Given the description of an element on the screen output the (x, y) to click on. 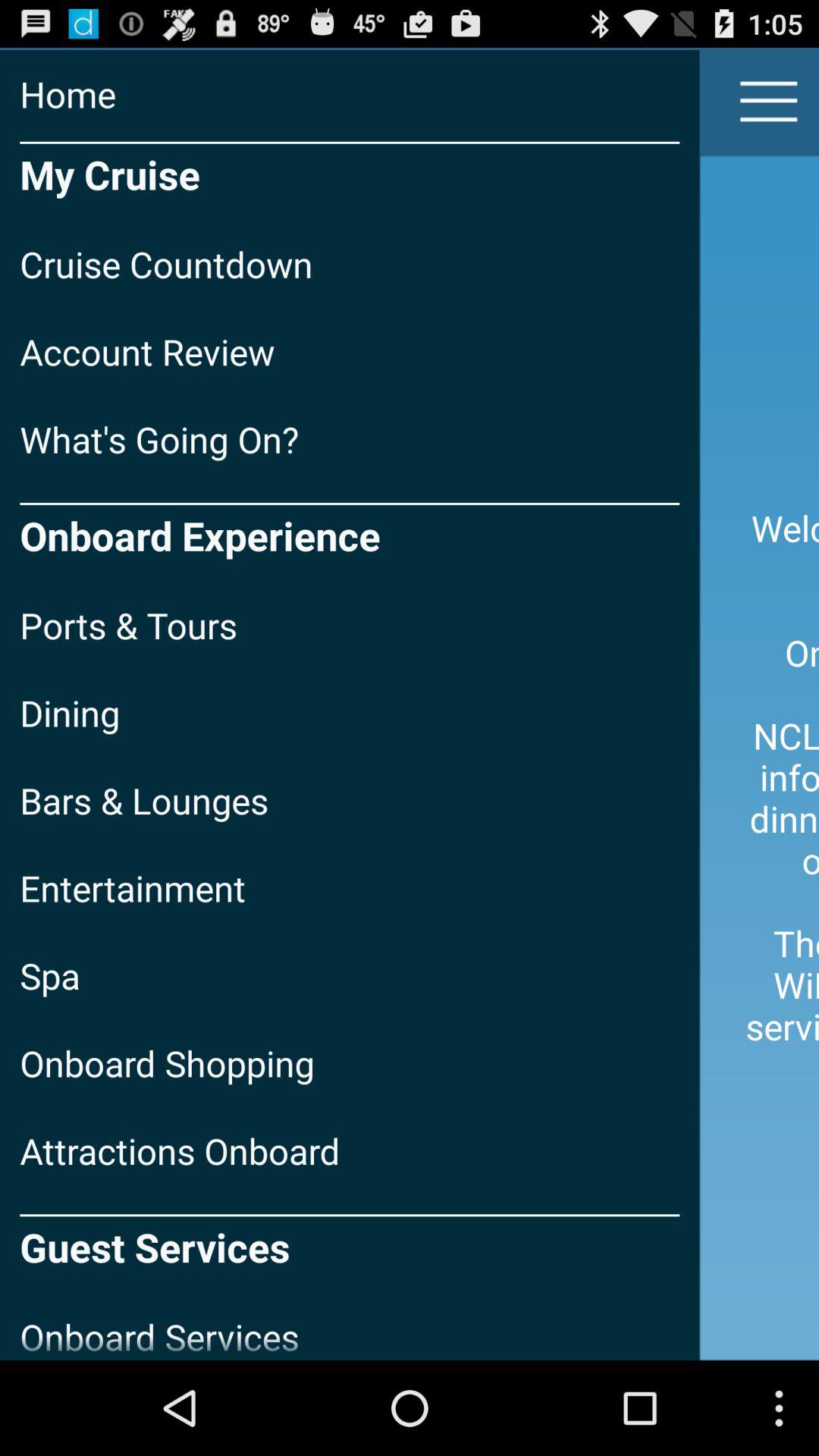
press icon to the right of the home item (769, 101)
